Given the description of an element on the screen output the (x, y) to click on. 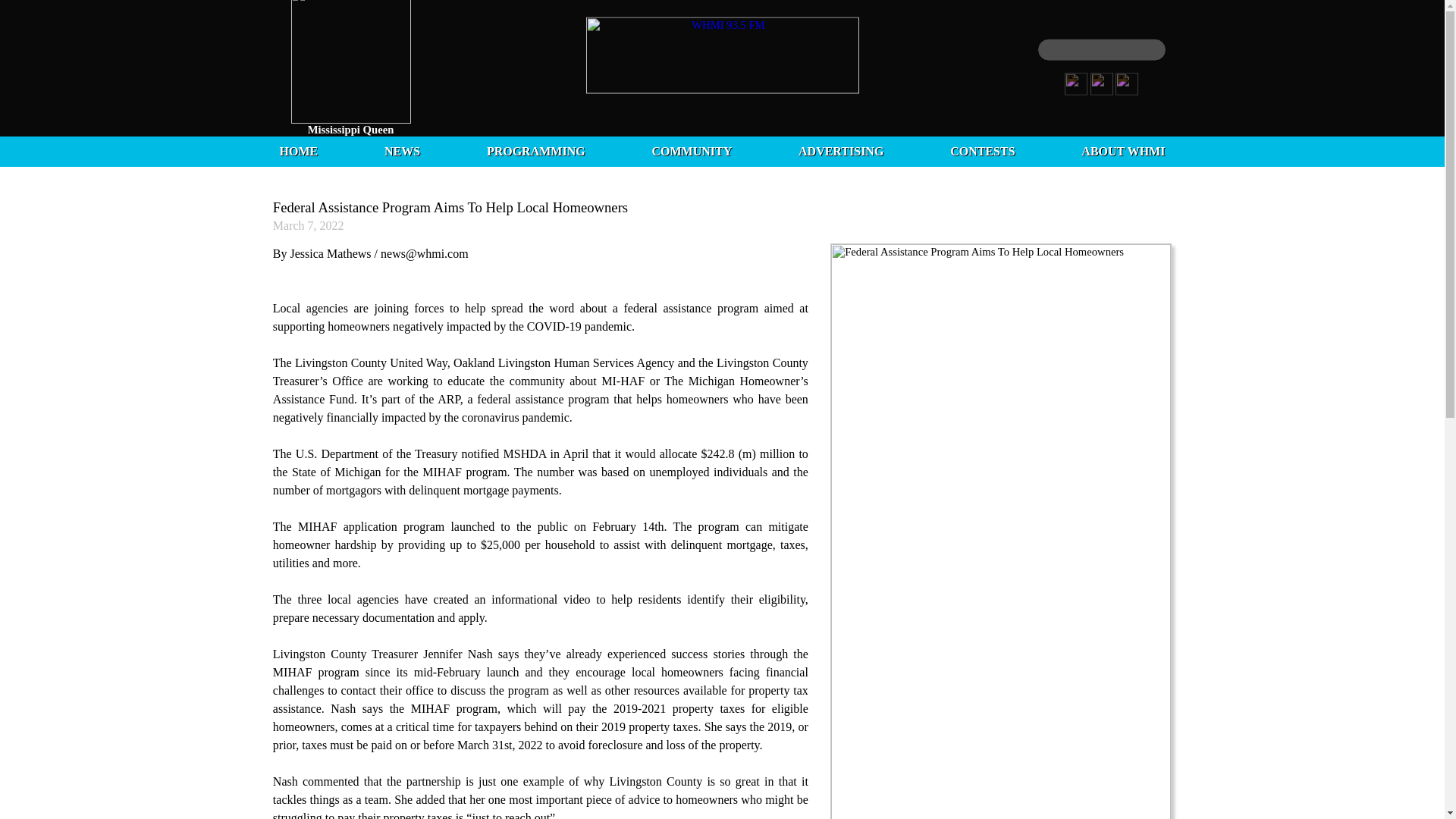
ADVERTISING (840, 151)
NEWS (402, 151)
PROGRAMMING (535, 151)
CONTESTS (982, 151)
HOME (298, 151)
COMMUNITY (691, 151)
Mountain (350, 142)
Mississippi Queen (350, 129)
